Given the description of an element on the screen output the (x, y) to click on. 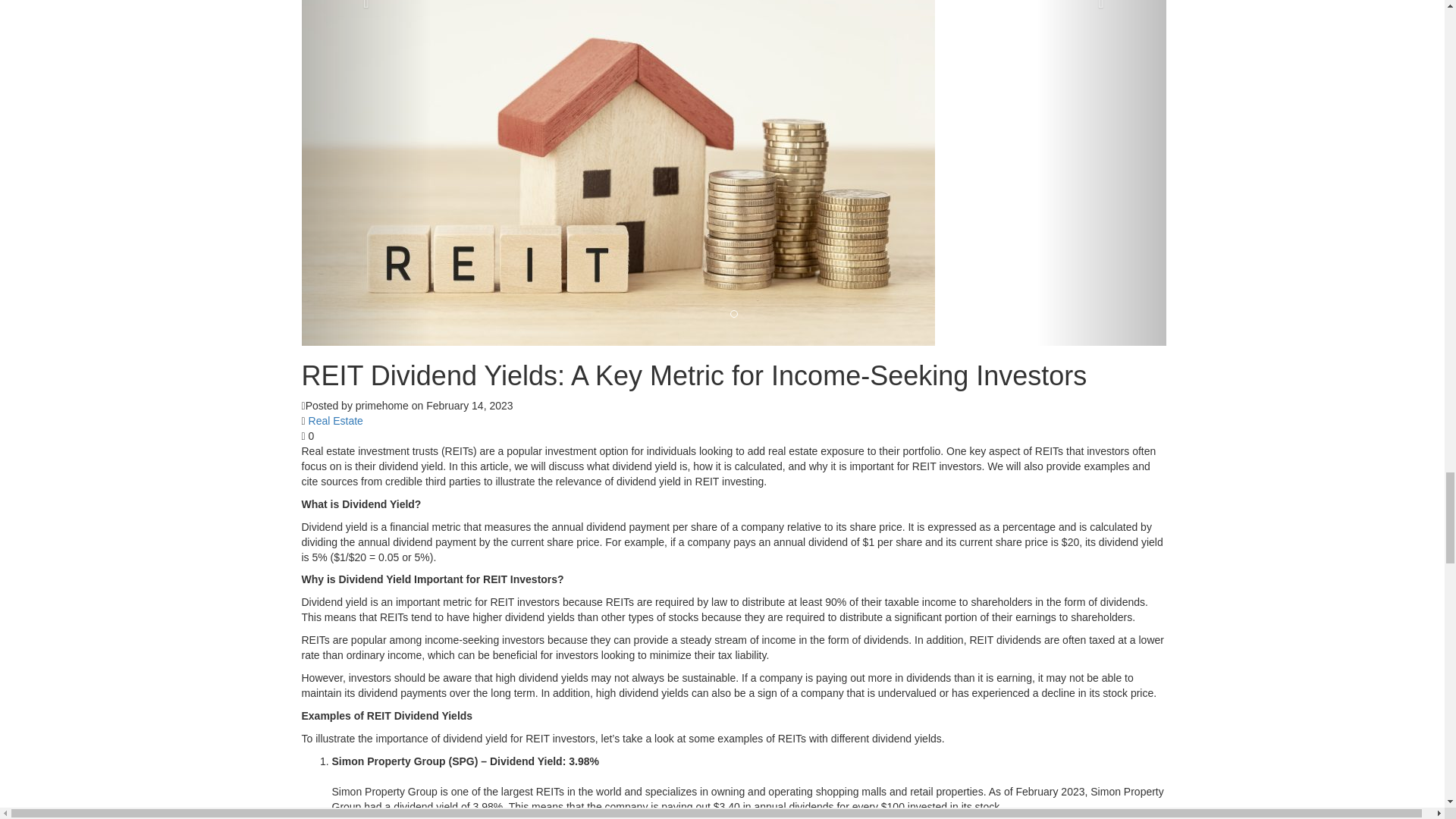
Real Estate (335, 420)
